Given the description of an element on the screen output the (x, y) to click on. 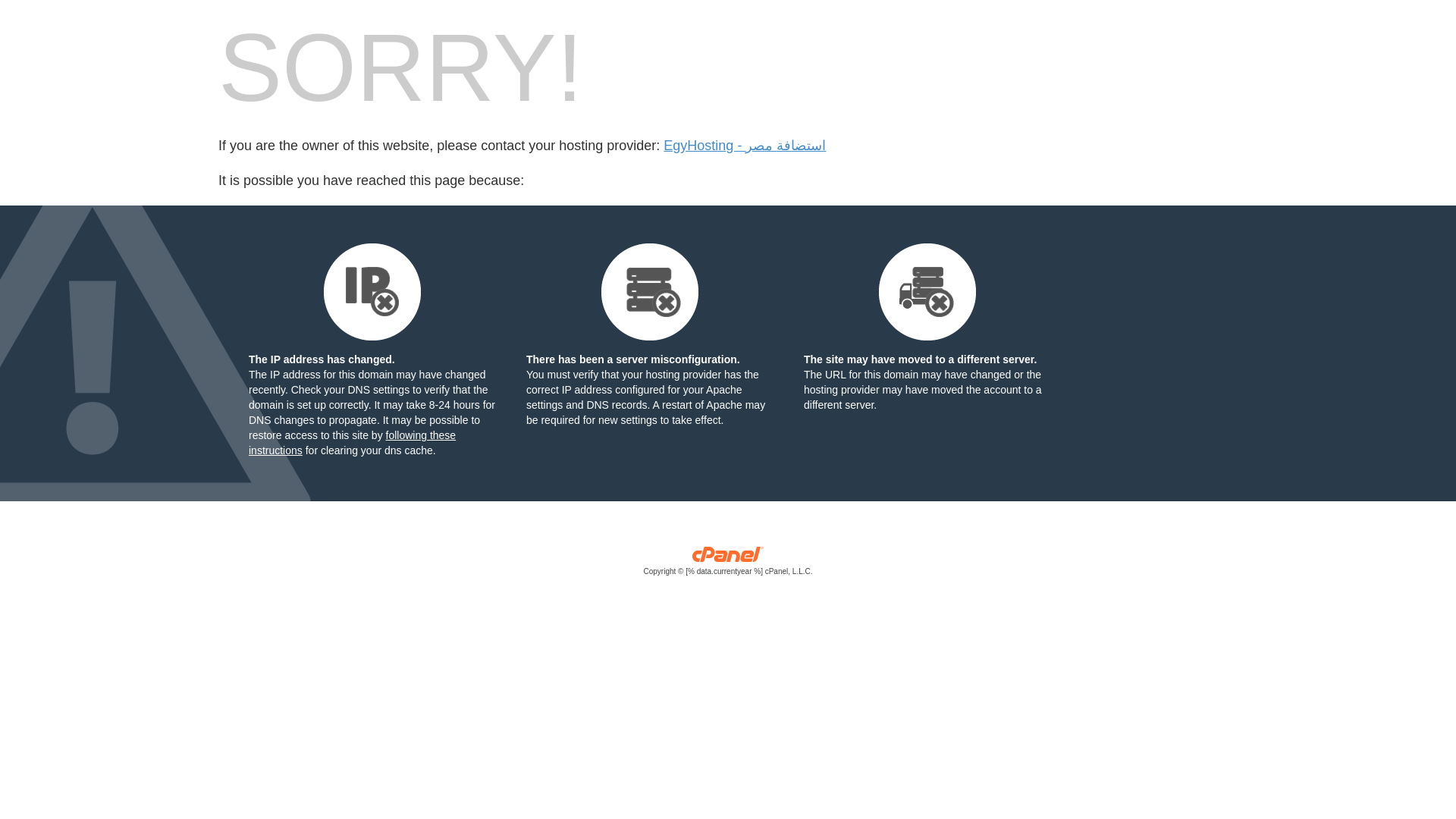
cPanel, L.L.C. (727, 564)
following these instructions (351, 442)
Click this link to contact the host (744, 145)
